Given the description of an element on the screen output the (x, y) to click on. 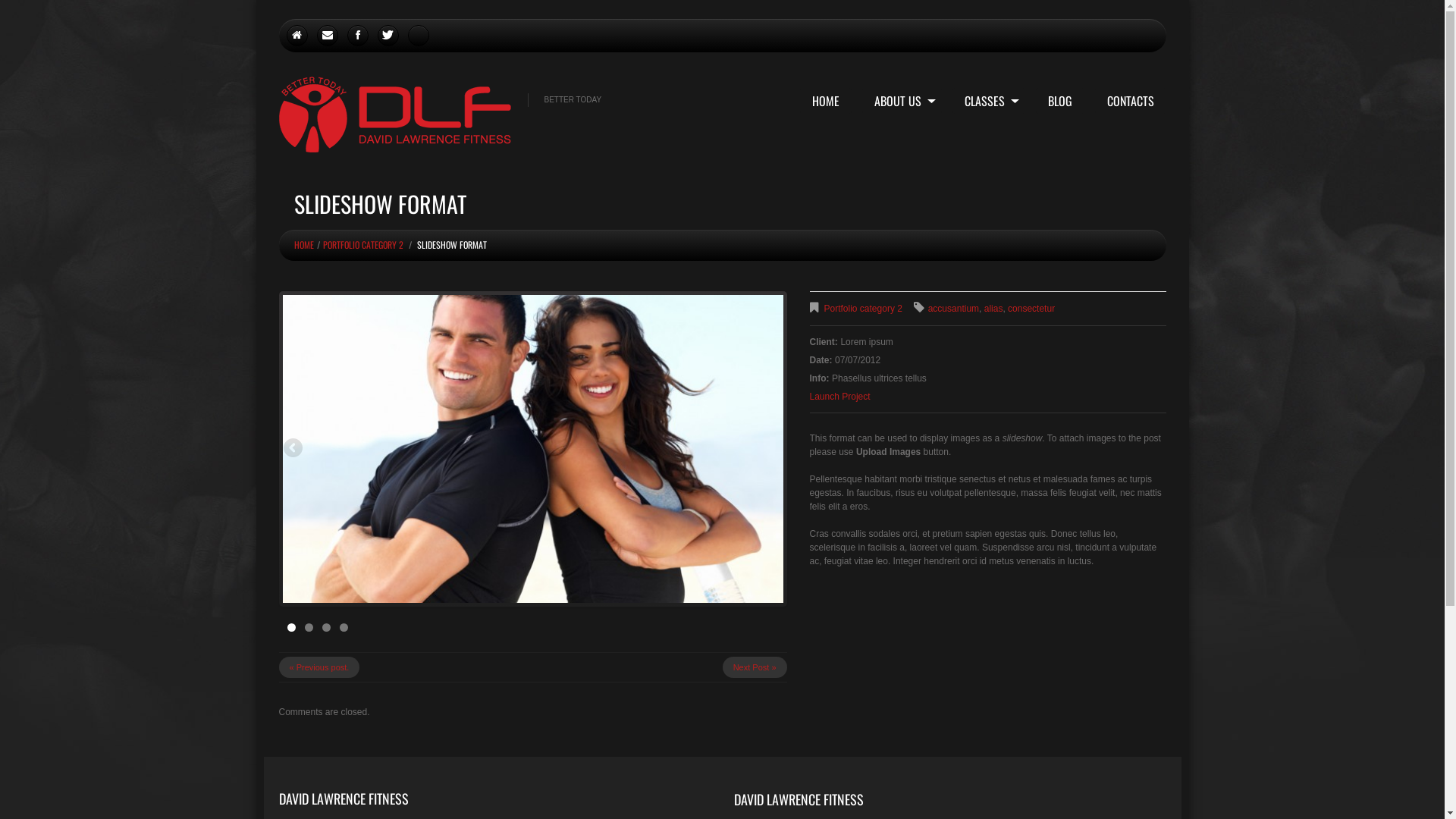
Portfolio category 2 Element type: text (862, 308)
PORTFOLIO CATEGORY 2 Element type: text (363, 244)
accusantium Element type: text (953, 308)
Better Today Element type: hover (395, 114)
consectetur Element type: text (1030, 308)
Launch Project Element type: text (839, 396)
1 Element type: text (290, 627)
Contacts Element type: text (327, 35)
BLOG Element type: text (1059, 100)
HOME Element type: text (303, 244)
HOME Element type: text (824, 100)
Previous Element type: text (293, 448)
alias Element type: text (993, 308)
Home Element type: text (296, 35)
CONTACTS Element type: text (1130, 100)
2 Element type: text (308, 627)
4 Element type: text (343, 627)
3 Element type: text (325, 627)
